Given the description of an element on the screen output the (x, y) to click on. 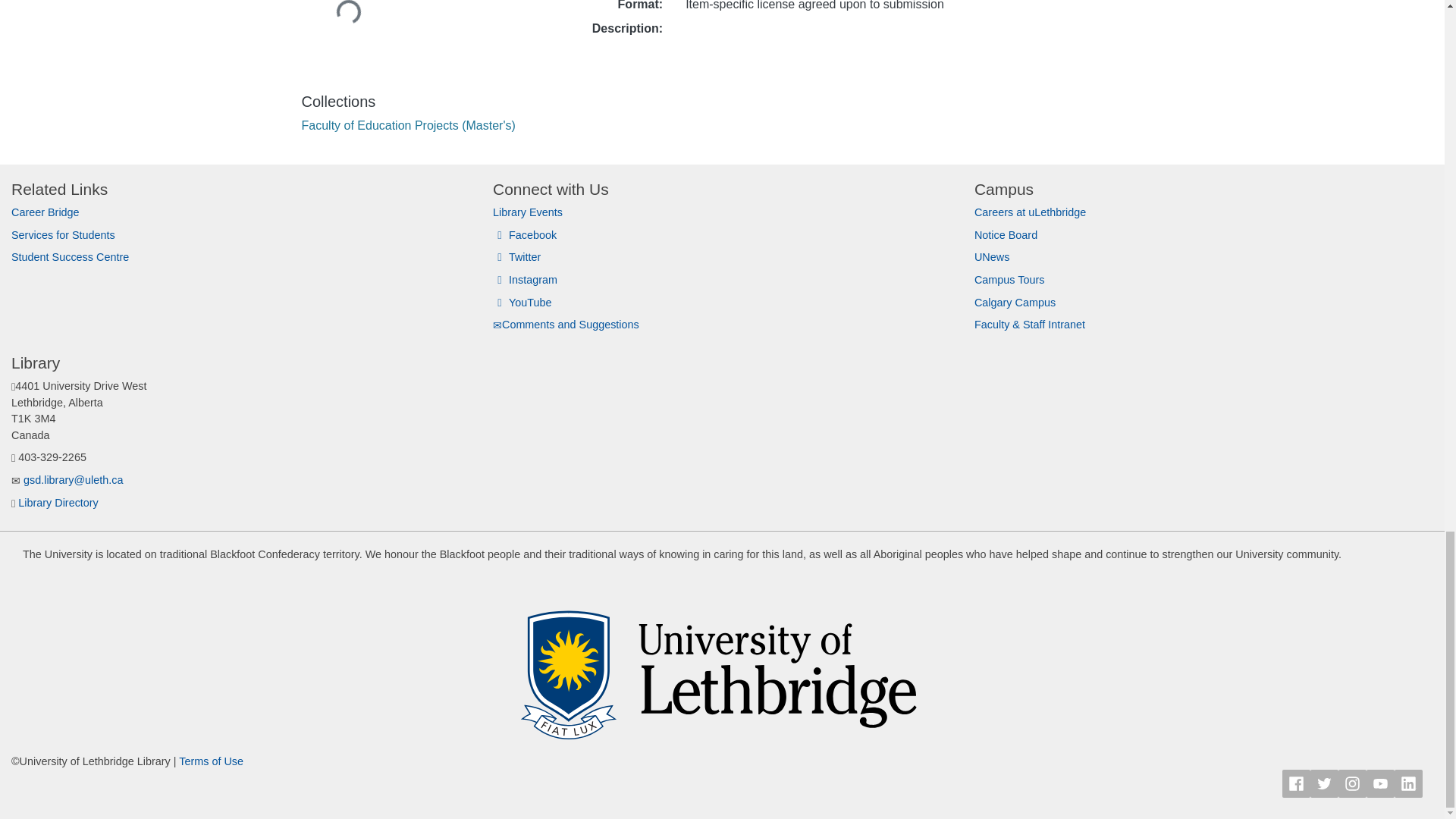
UNews (991, 256)
YouTube (522, 302)
Library Events (527, 212)
Campus Tours (1009, 279)
Comments and Suggestions (566, 324)
Student Success Centre (70, 256)
Facebook (524, 234)
Notice Board (1005, 234)
Twitter Link (1324, 783)
Services for Students (63, 234)
LinkedIn Link (1408, 783)
Calgary Campus (1014, 302)
Twitter (516, 256)
YouTube Link (1380, 783)
Instagram Link (1352, 783)
